Given the description of an element on the screen output the (x, y) to click on. 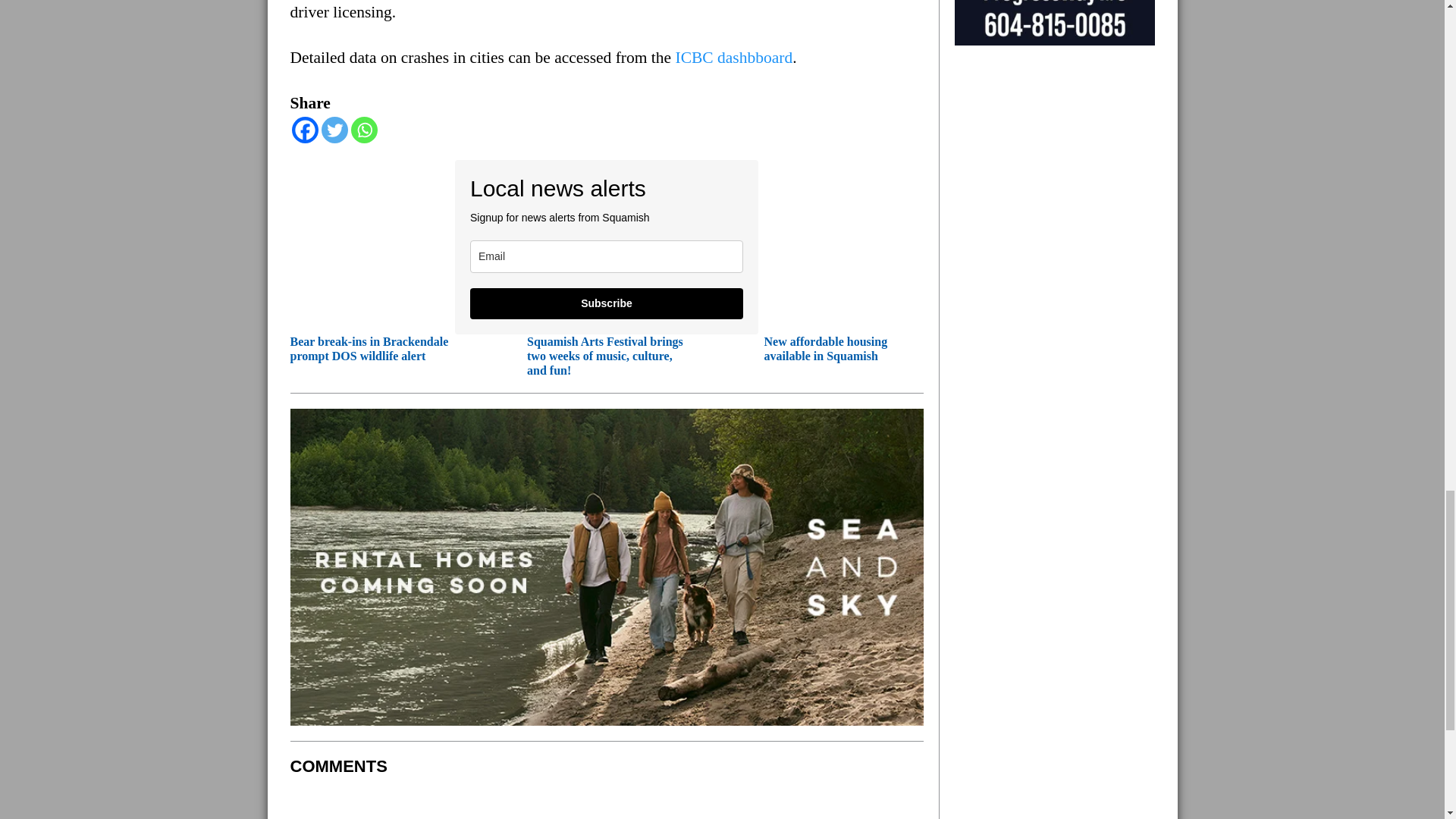
Whatsapp (363, 130)
Twitter (334, 130)
Facebook (304, 130)
ICBC dashbboard (734, 57)
Subscribe (606, 303)
